Given the description of an element on the screen output the (x, y) to click on. 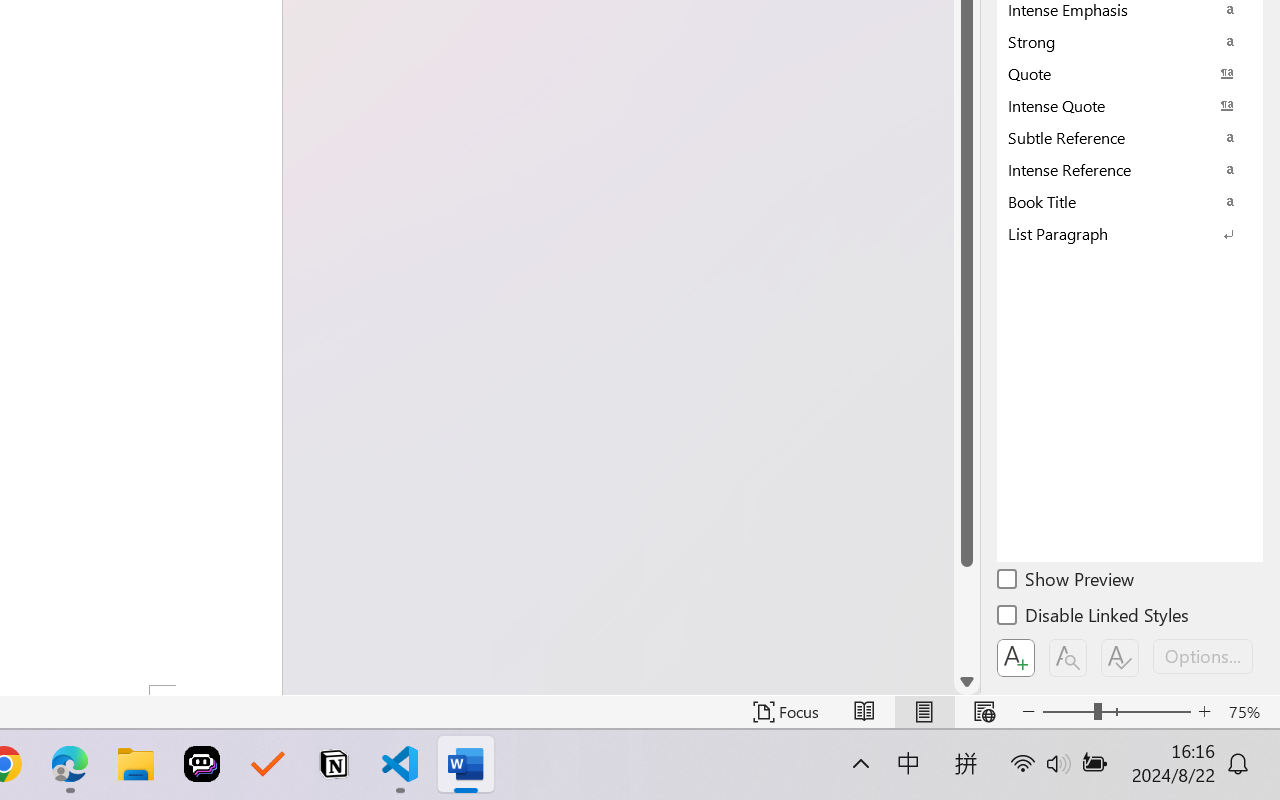
Line down (966, 681)
Subtle Reference (1130, 137)
Strong (1130, 41)
Options... (1203, 656)
Show Preview (1067, 582)
Intense Reference (1130, 169)
Disable Linked Styles (1094, 618)
Book Title (1130, 201)
Zoom (1116, 712)
Page down (966, 617)
